Given the description of an element on the screen output the (x, y) to click on. 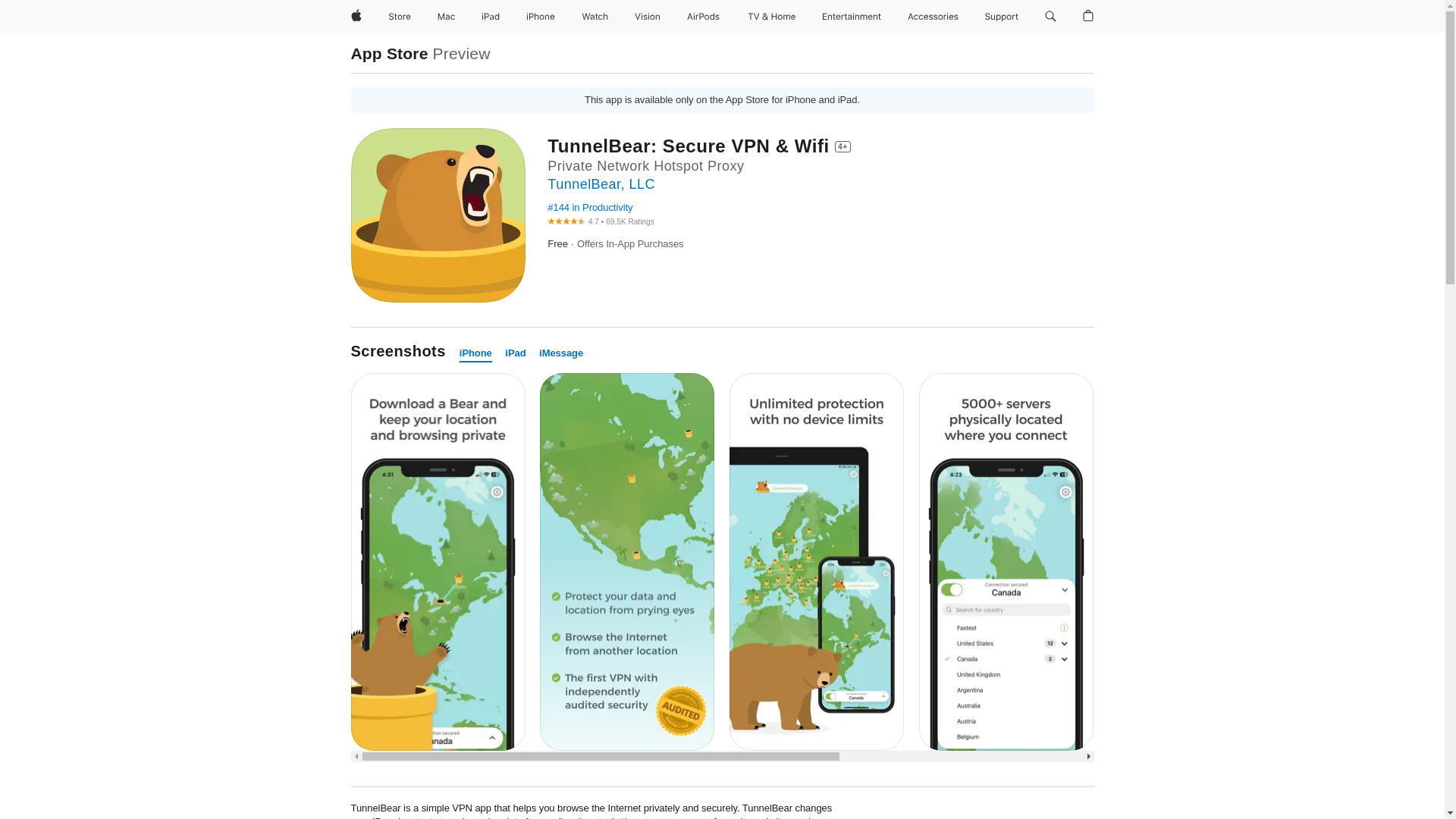
Store (398, 16)
